Given the description of an element on the screen output the (x, y) to click on. 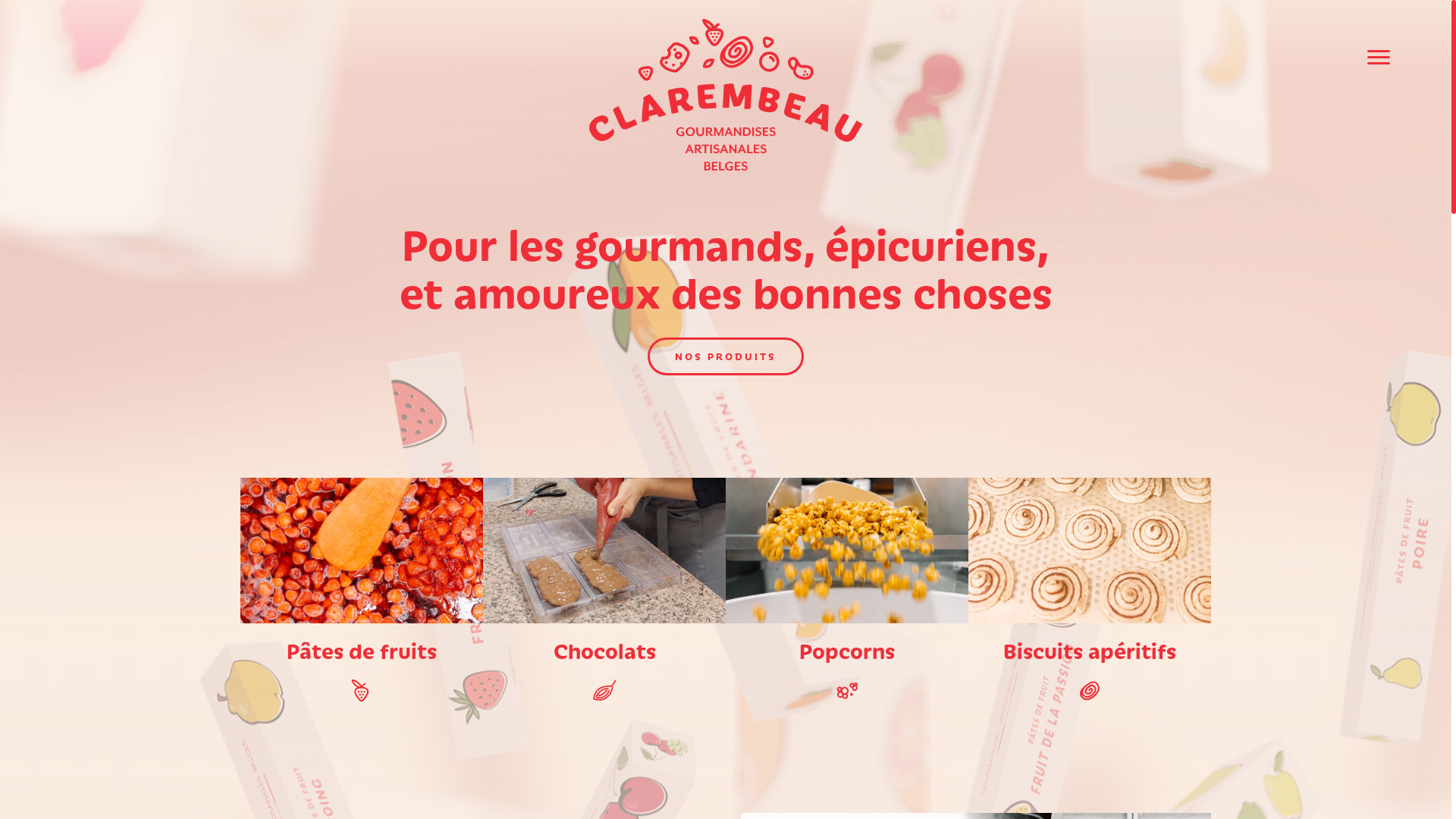
Toggle navigation Element type: text (1378, 57)
NOS PRODUITS Element type: text (725, 356)
